Given the description of an element on the screen output the (x, y) to click on. 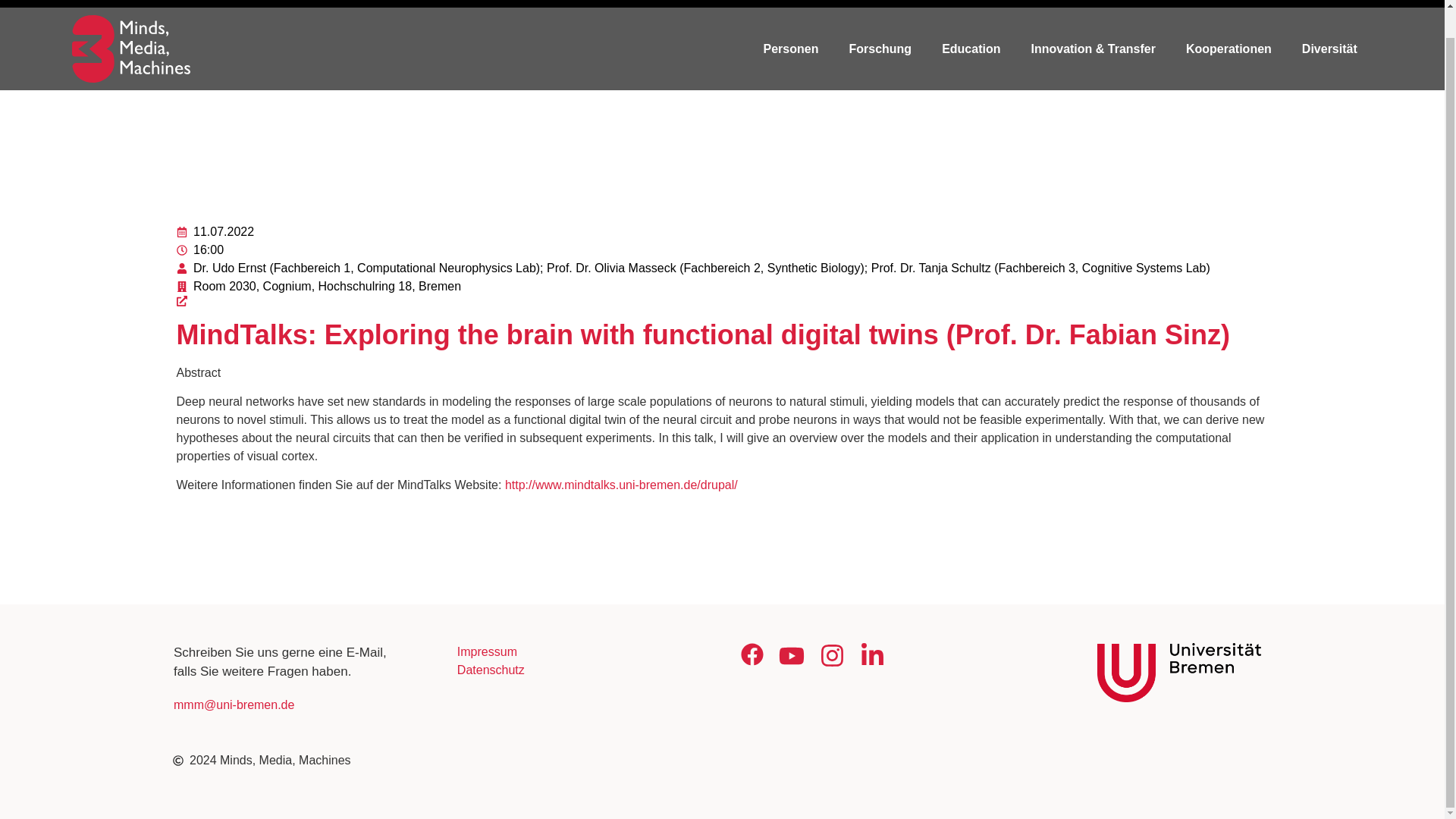
News (1029, 3)
logo-mmm-w (130, 48)
English (1351, 3)
English (1351, 3)
Kooperationen (1228, 48)
Kontakt (1285, 3)
Barrierefreiheit (1111, 3)
Personen (791, 48)
Education (970, 48)
Forschung (879, 48)
